Given the description of an element on the screen output the (x, y) to click on. 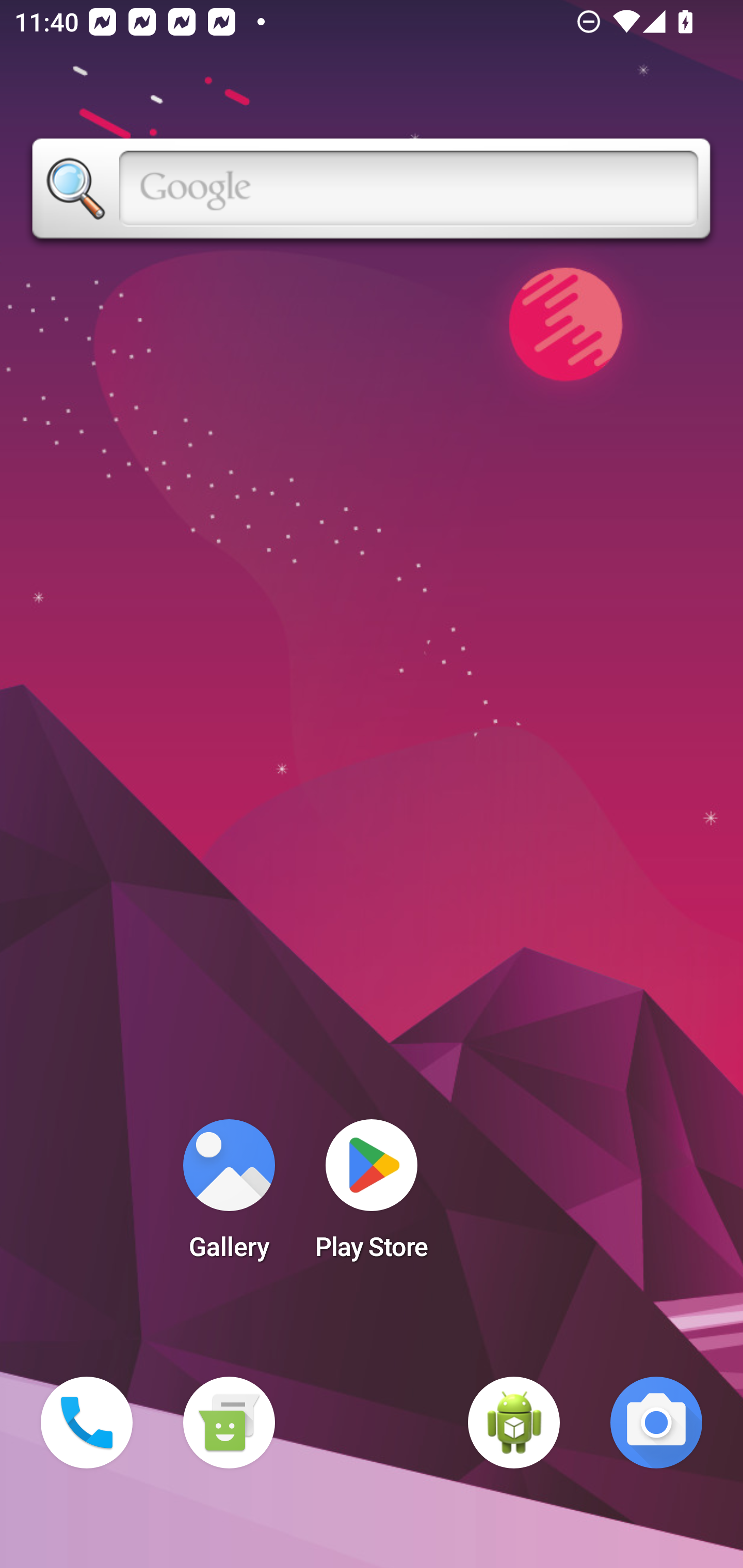
Gallery (228, 1195)
Play Store (371, 1195)
Phone (86, 1422)
Messaging (228, 1422)
WebView Browser Tester (513, 1422)
Camera (656, 1422)
